Given the description of an element on the screen output the (x, y) to click on. 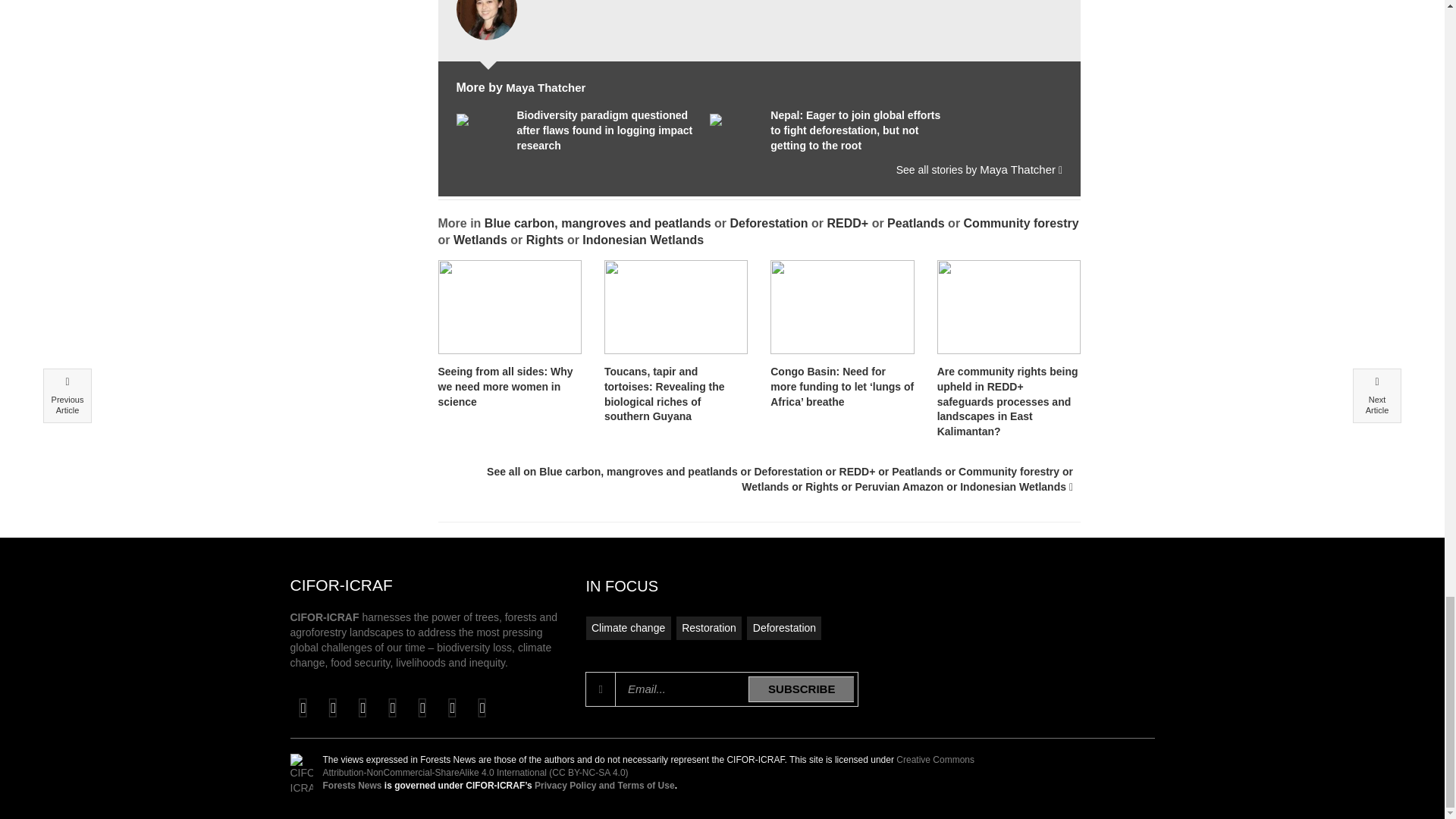
Subscribe (800, 688)
